Given the description of an element on the screen output the (x, y) to click on. 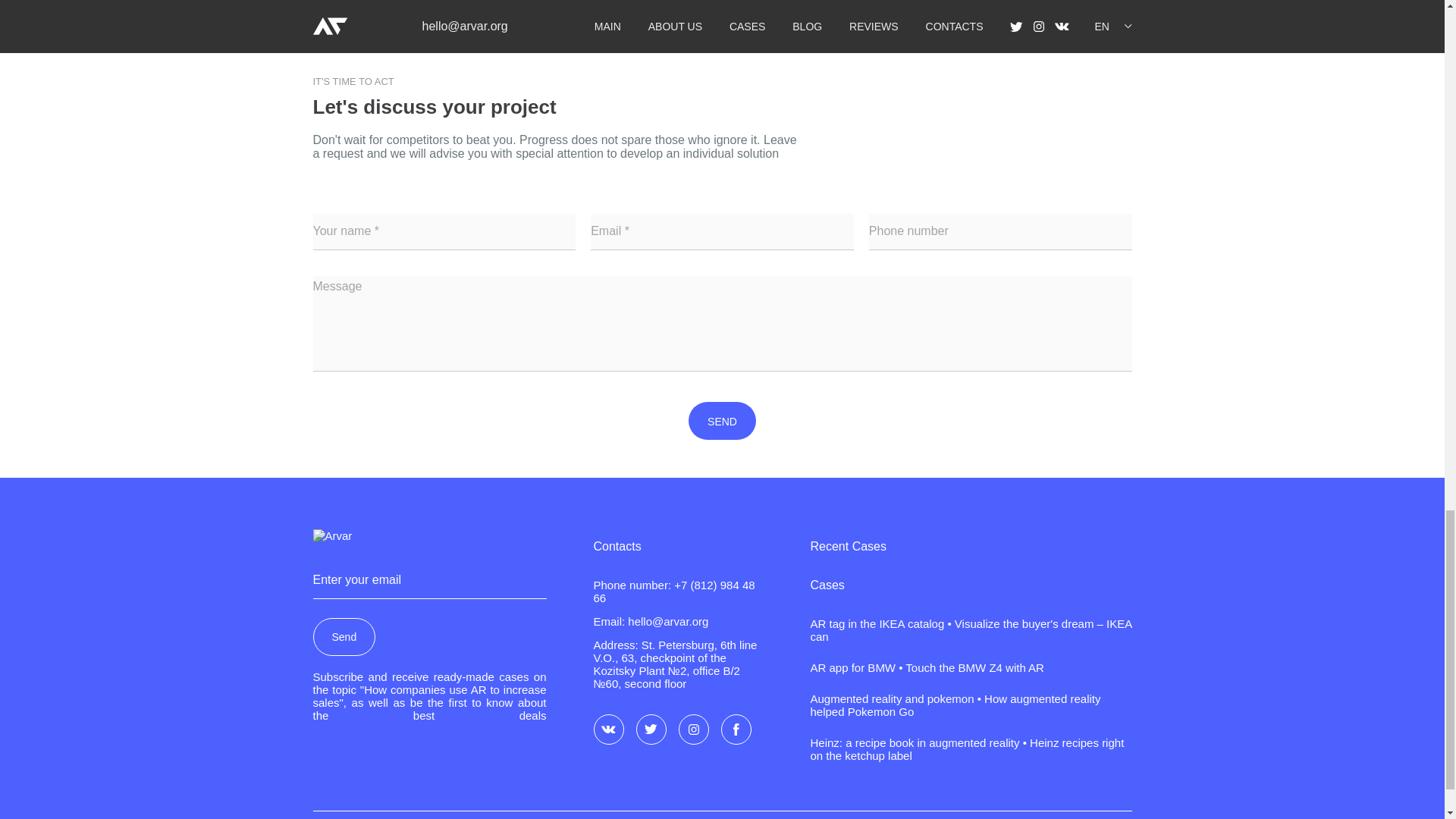
Send (344, 637)
Send (344, 637)
Send (721, 420)
Send (721, 420)
